Given the description of an element on the screen output the (x, y) to click on. 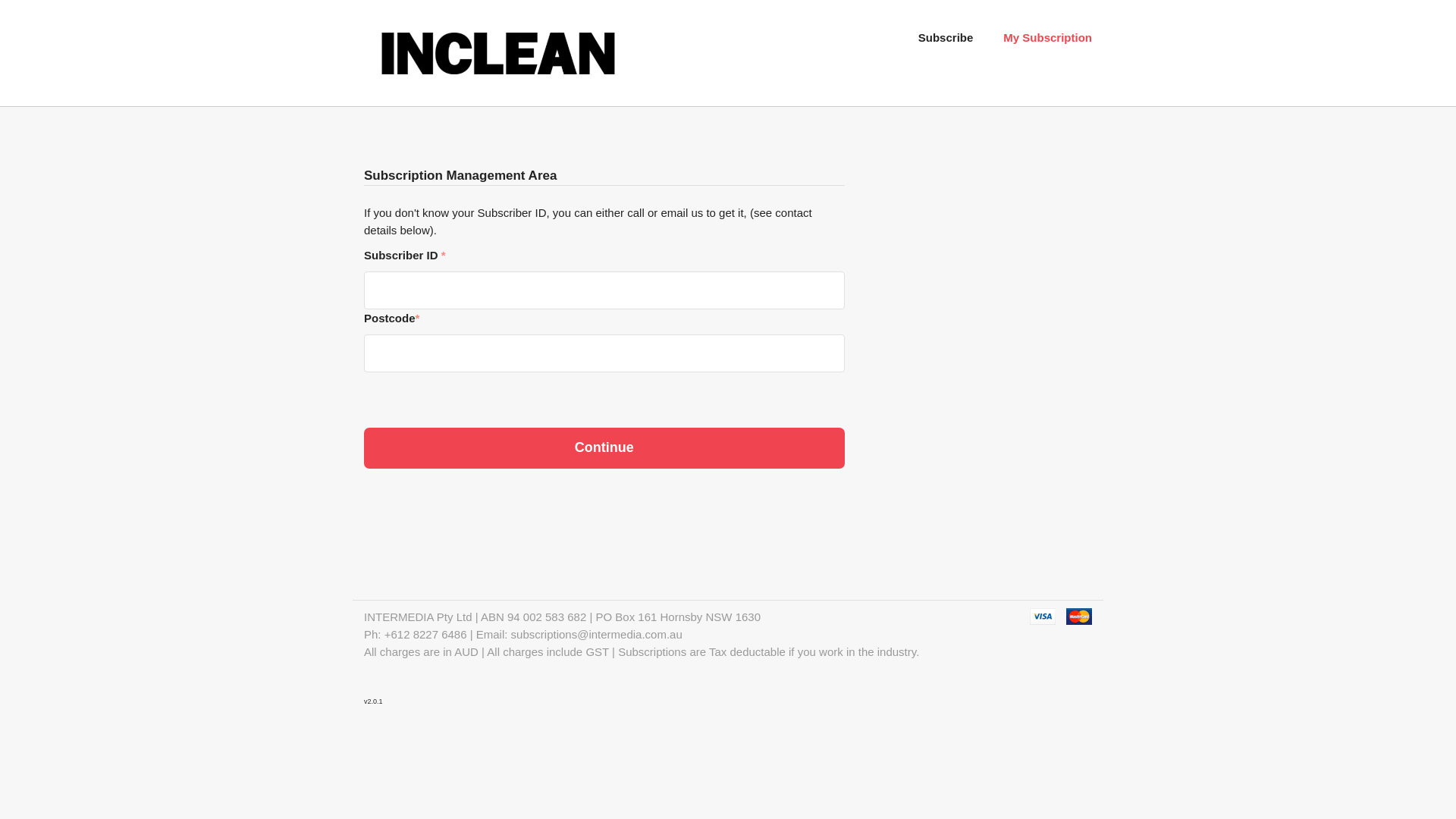
Subscribe Element type: text (945, 37)
My Subscription Element type: text (1047, 37)
Continue Element type: text (604, 447)
